Given the description of an element on the screen output the (x, y) to click on. 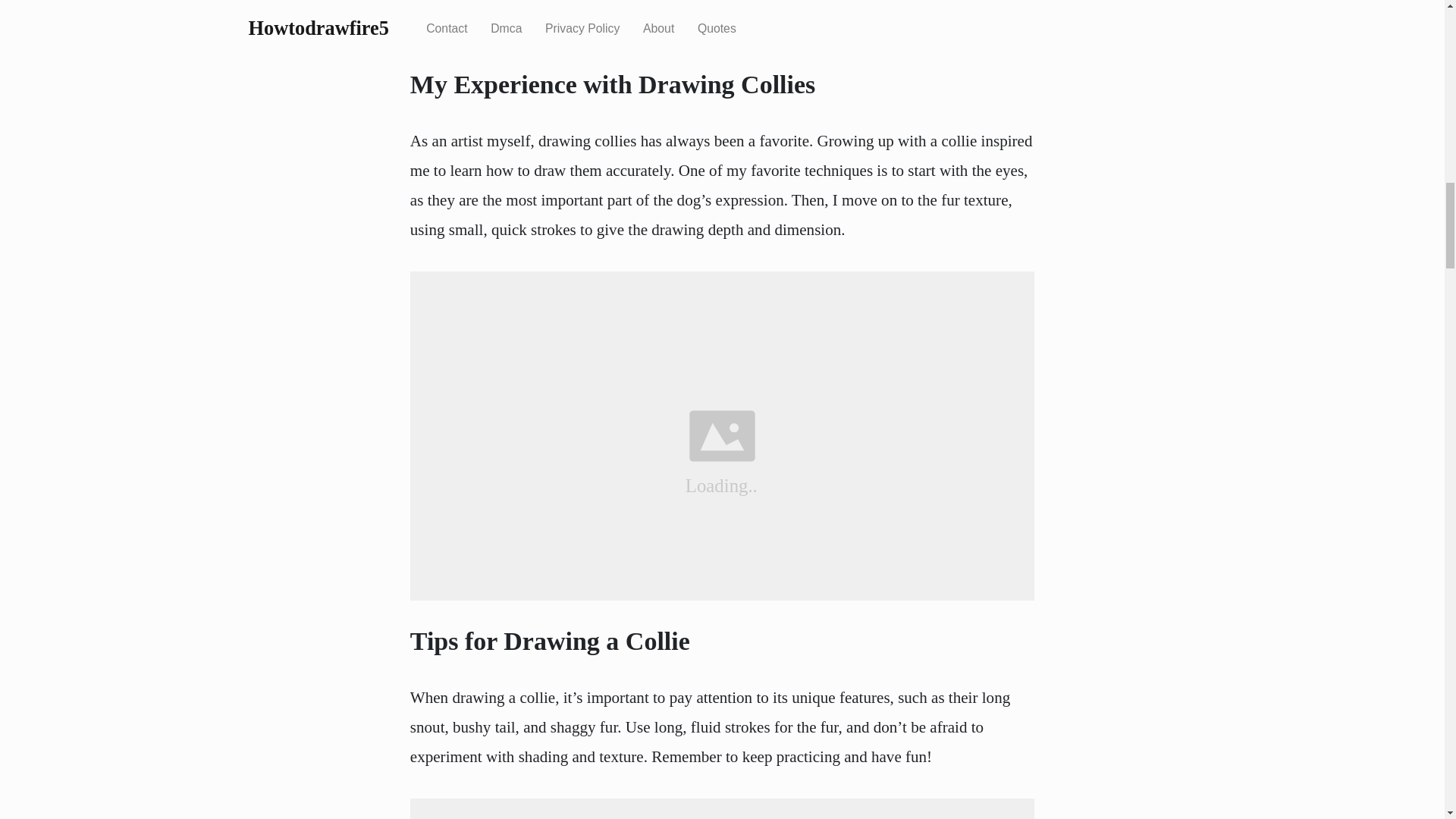
drawing of a border collie (721, 808)
